Given the description of an element on the screen output the (x, y) to click on. 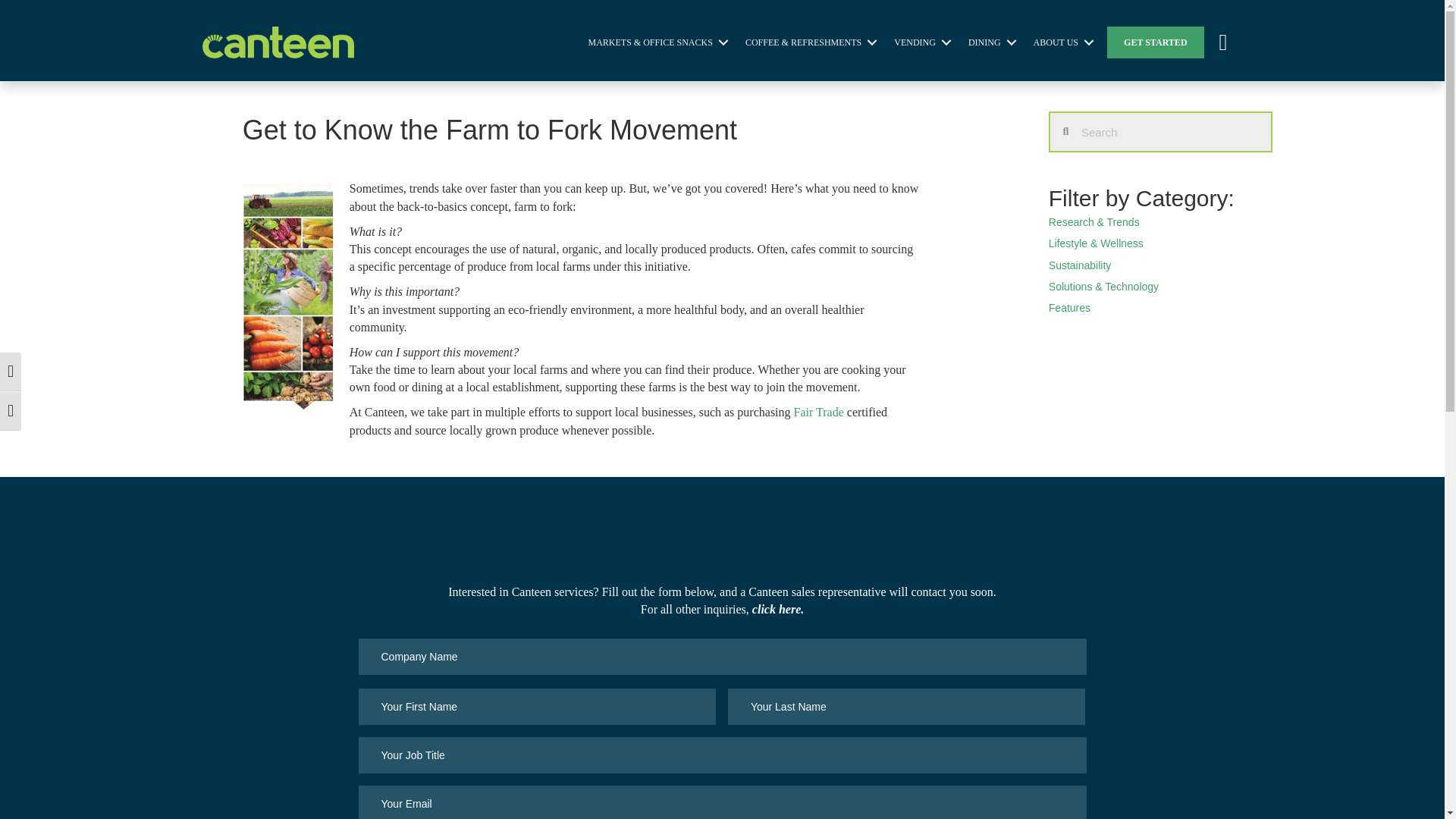
GET STARTED (1155, 42)
VENDING (919, 42)
Toggle Font size (10, 410)
click here. (777, 608)
Features (1069, 307)
DINING (990, 42)
Fair Trade (818, 411)
ABOUT US (1061, 42)
Toggle High Contrast (10, 371)
Sustainability (1080, 265)
